Given the description of an element on the screen output the (x, y) to click on. 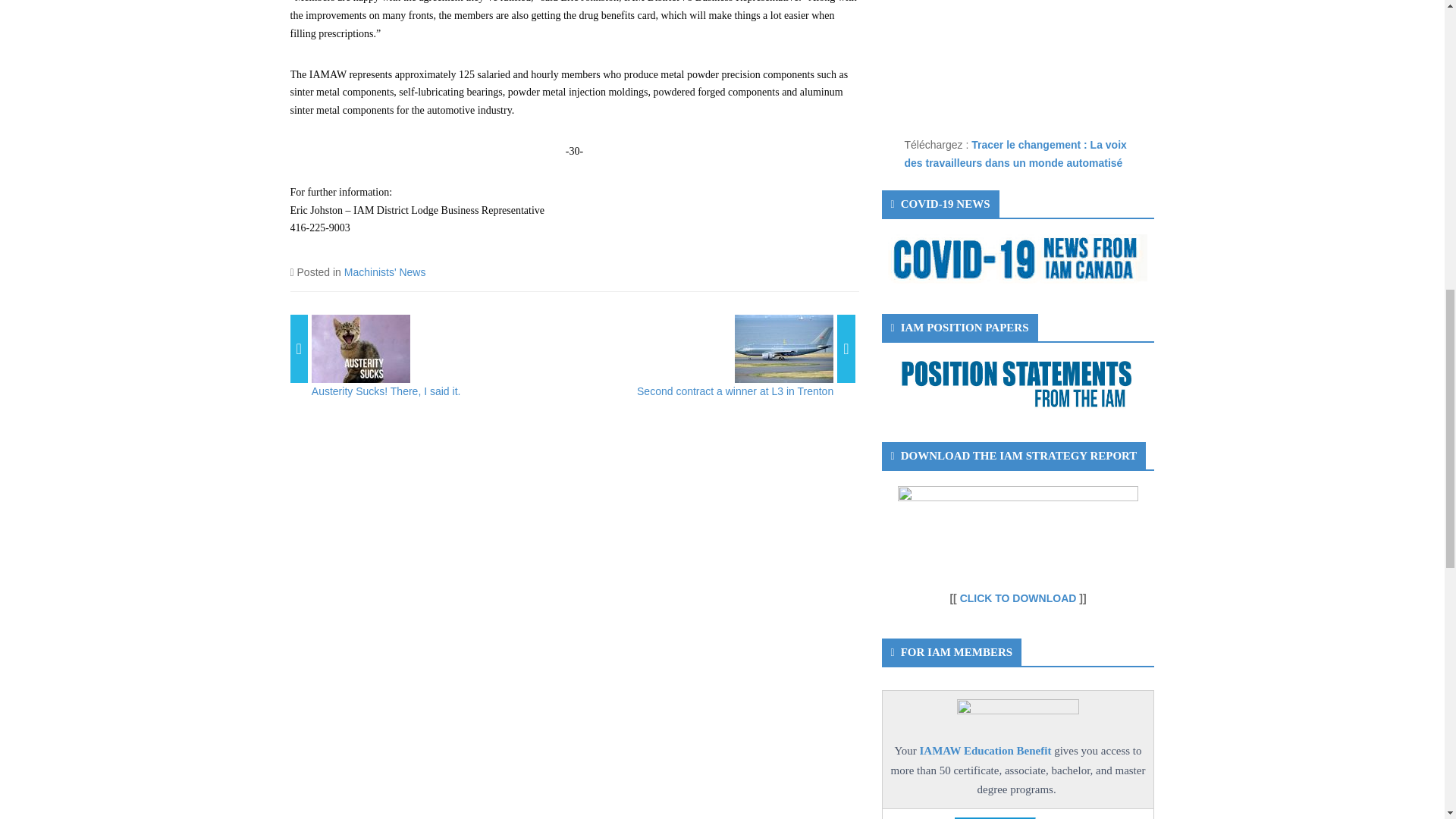
Machinists' News (384, 272)
Second contract a winner at L3 in Trenton (734, 390)
Austerity Sucks! There, I said it. (386, 390)
